Given the description of an element on the screen output the (x, y) to click on. 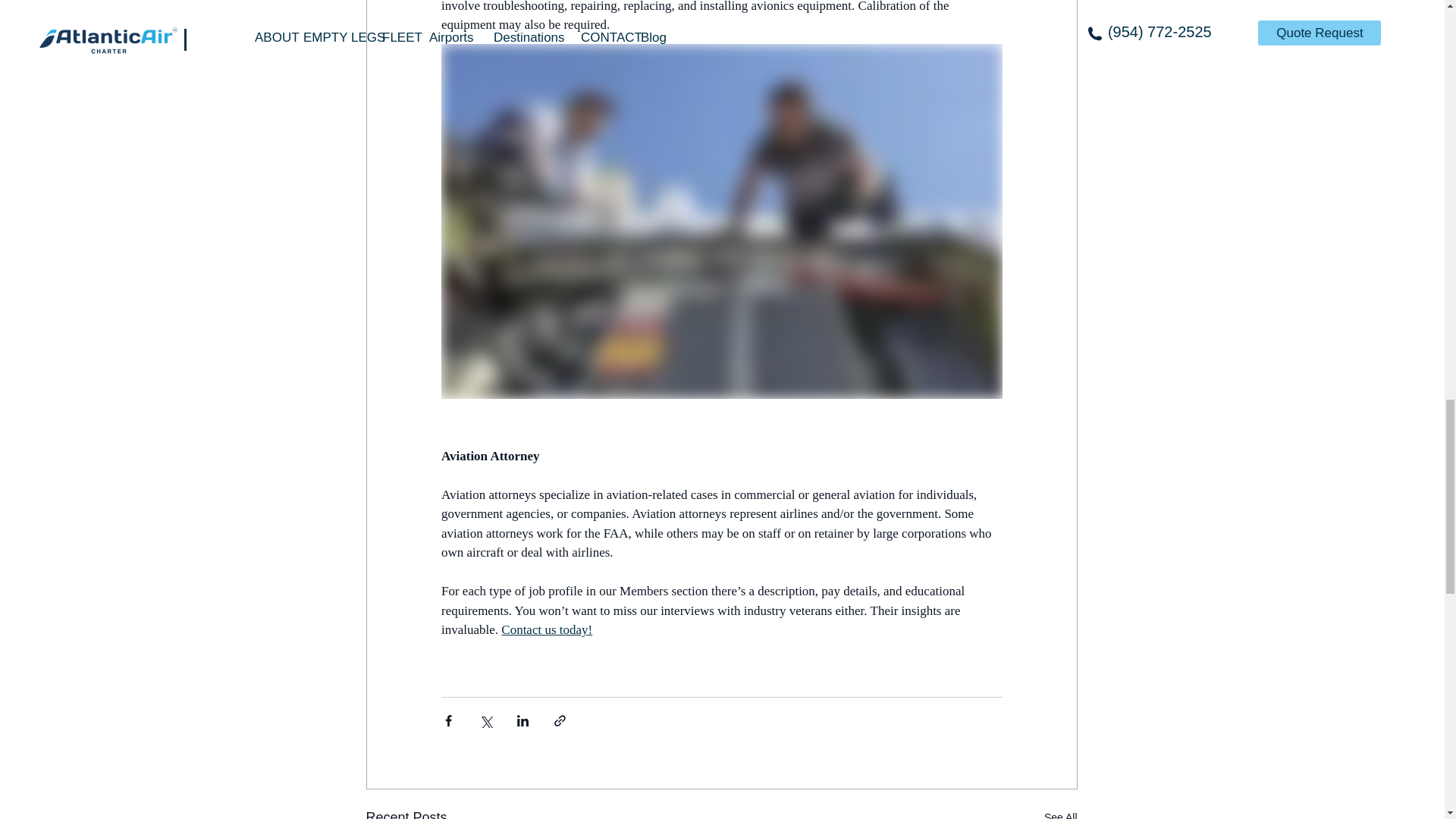
Contact us today! (546, 629)
See All (1060, 812)
